Given the description of an element on the screen output the (x, y) to click on. 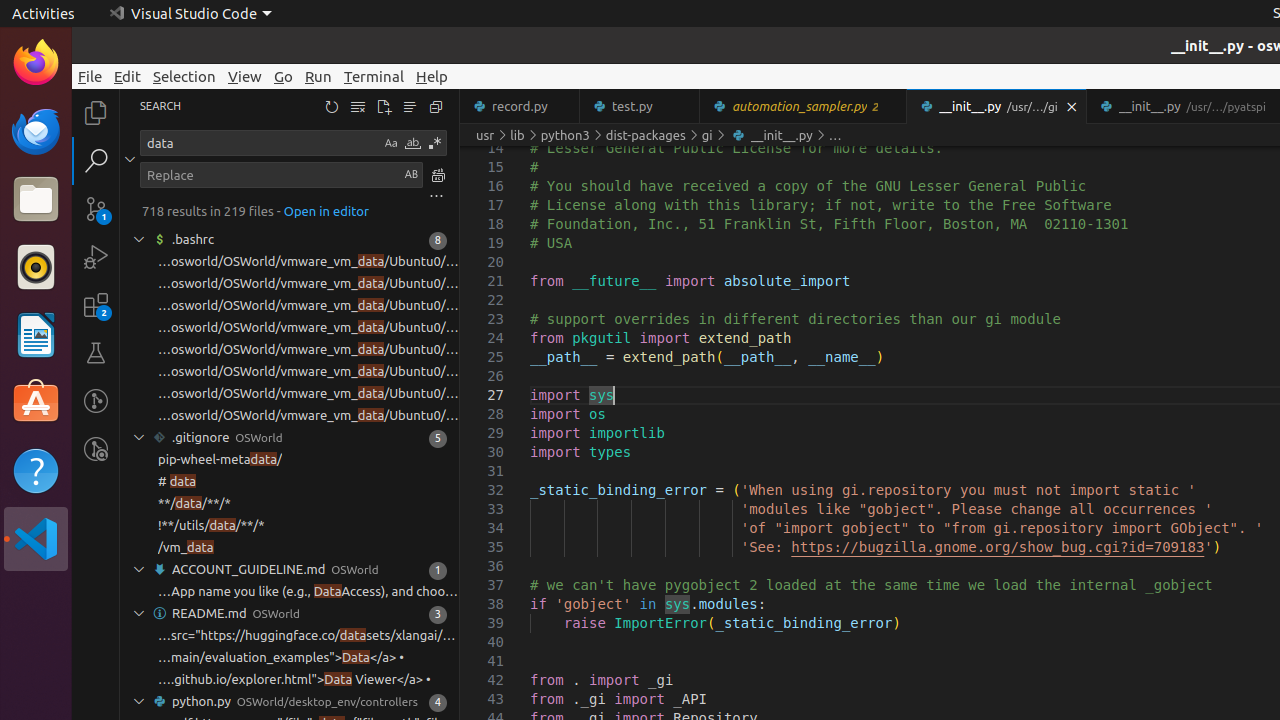
'/vm_data' at column 5 found data Element type: tree-item (289, 547)
'# vmrun -T ws start /home/PJLAB/luyi1/osworld/OSWorld/vmware_vm_data/Ubuntu0/Ubuntu0.vmx' at column 65 found data Element type: tree-item (289, 393)
1 matches in file ACCOUNT_GUIDELINE.md of folder OSWorld, Search result Element type: tree-item (289, 569)
…osworld/OSWorld/vmware_vm_data/Ubuntu0/Ubuntu0.vmx" "/home/user/vm.log" "/home/PJLAB/luyi1/osworld/OSWorld/pylog/vm_test.log"' Element type: link (308, 283)
4 matches in file python.py of folder OSWorld/desktop_env/controllers, Search result Element type: tree-item (289, 701)
